Given the description of an element on the screen output the (x, y) to click on. 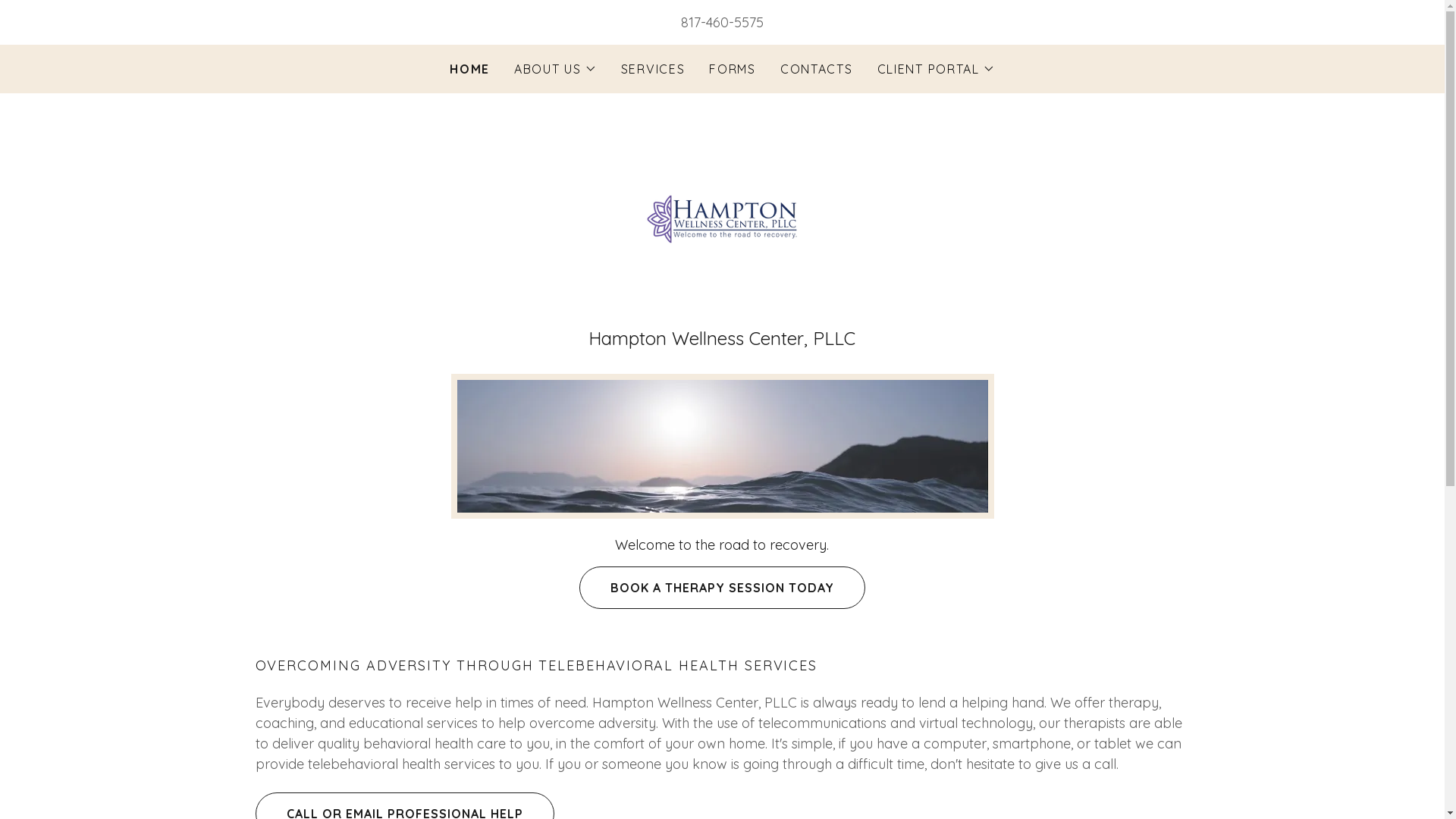
CONTACTS Element type: text (816, 68)
BOOK A THERAPY SESSION TODAY Element type: text (722, 586)
SERVICES Element type: text (653, 68)
Hampton Wellness Center, PLLC Element type: hover (721, 217)
CLIENT PORTAL Element type: text (935, 68)
HOME Element type: text (469, 68)
817-460-5575 Element type: text (721, 22)
FORMS Element type: text (732, 68)
ABOUT US Element type: text (555, 68)
